Given the description of an element on the screen output the (x, y) to click on. 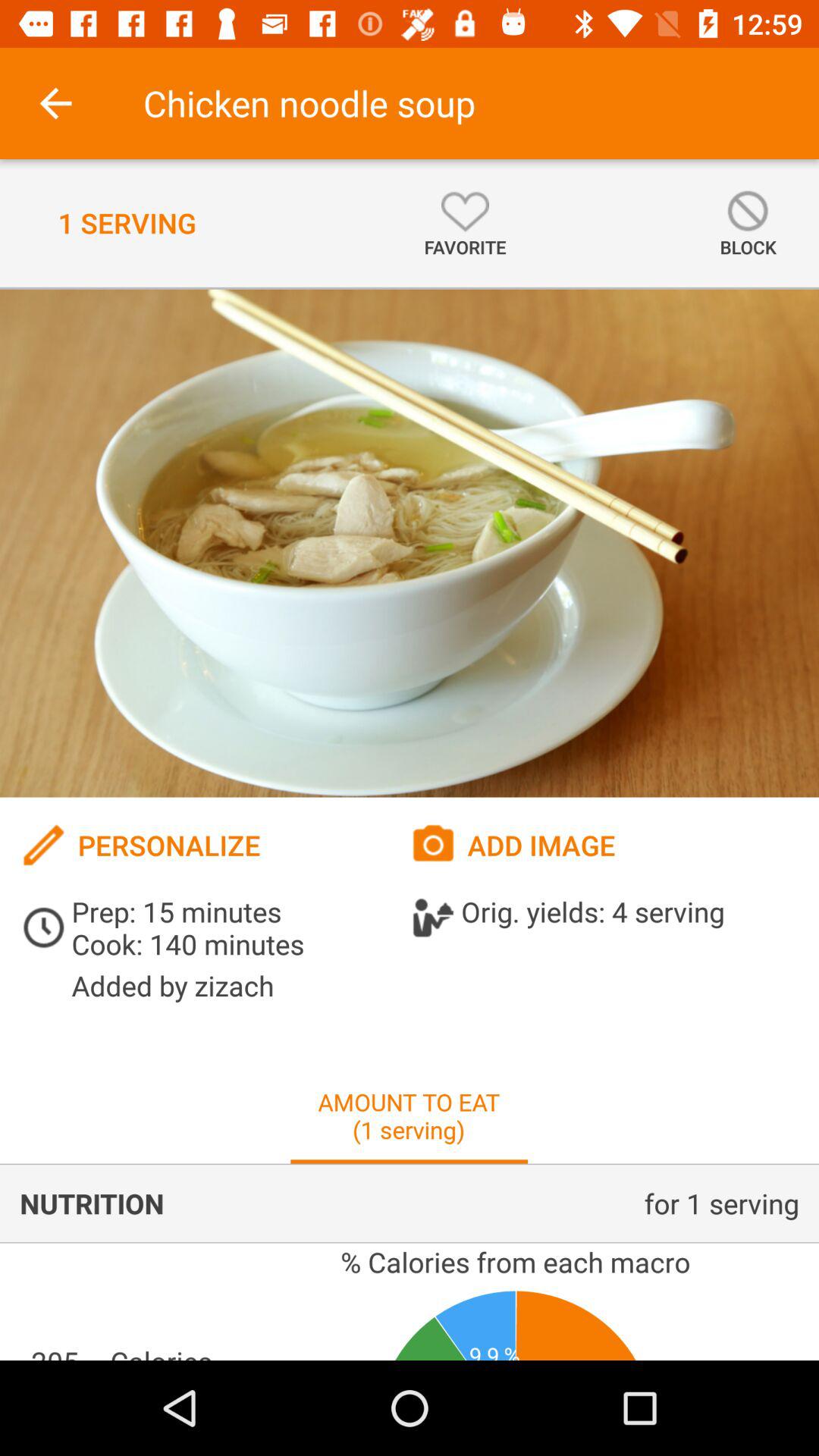
tap the favorite icon (464, 223)
